Given the description of an element on the screen output the (x, y) to click on. 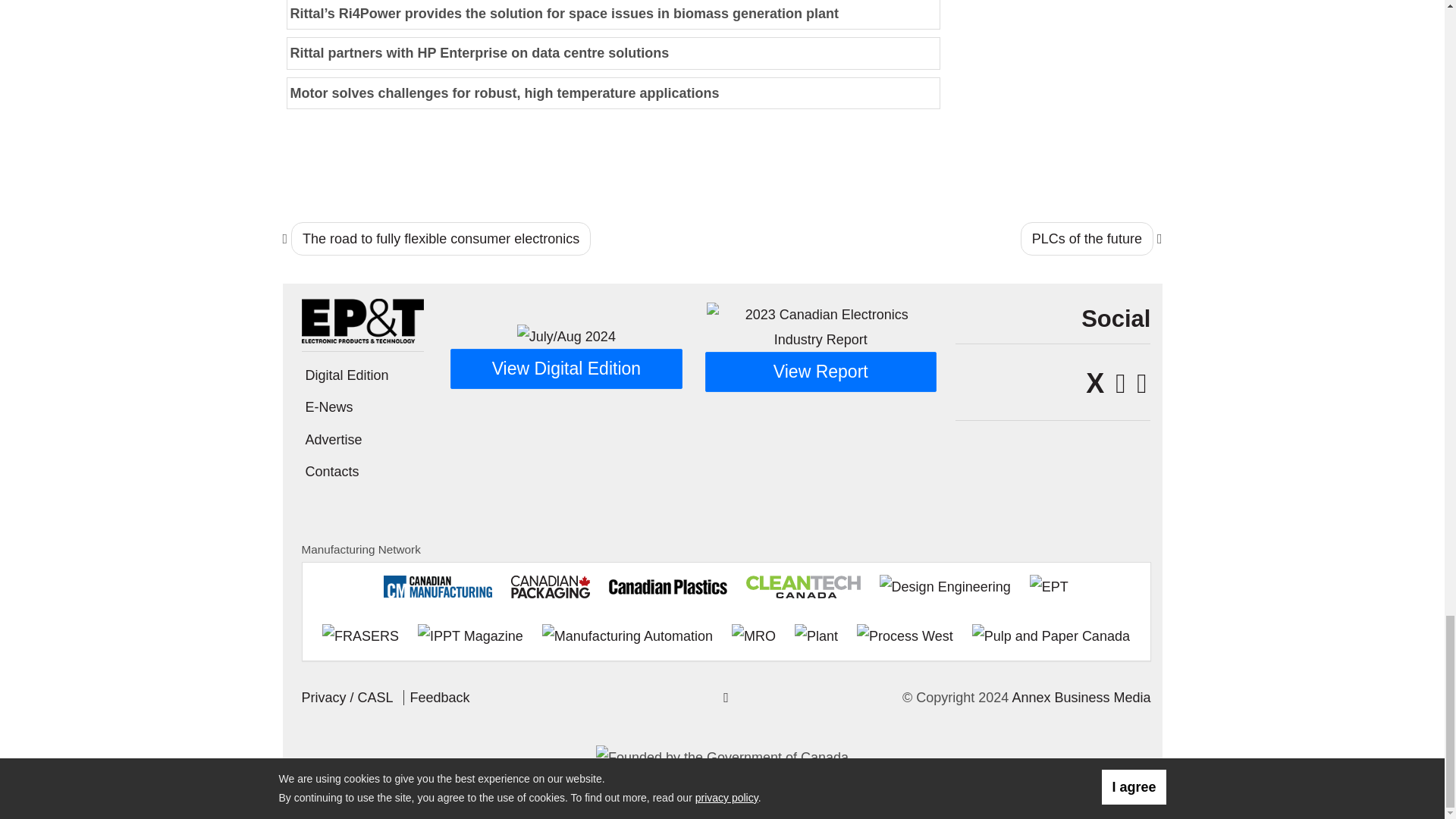
Annex Business Media (1080, 697)
